Given the description of an element on the screen output the (x, y) to click on. 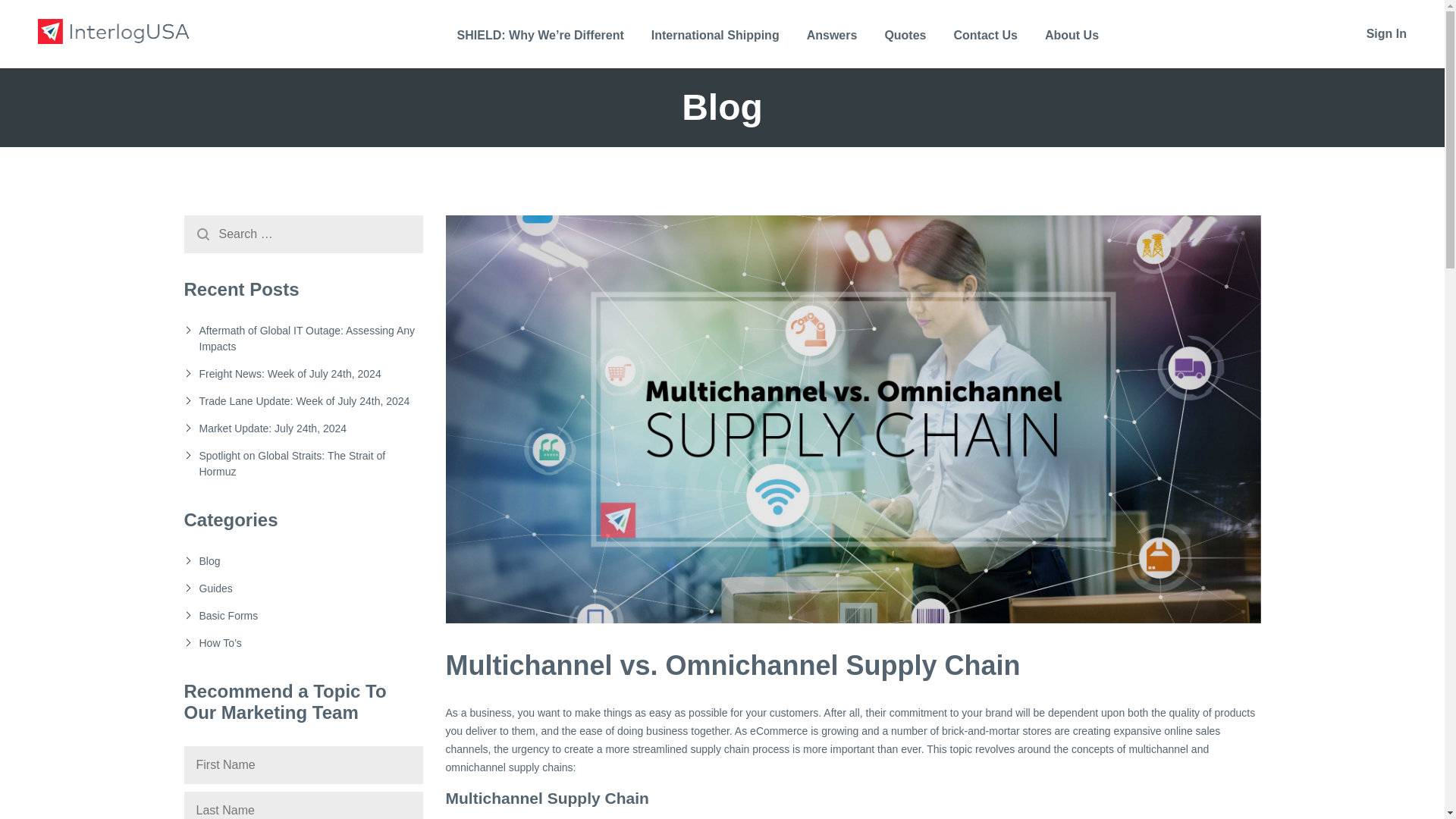
Search (202, 234)
Search (202, 234)
International Shipping (714, 45)
